Given the description of an element on the screen output the (x, y) to click on. 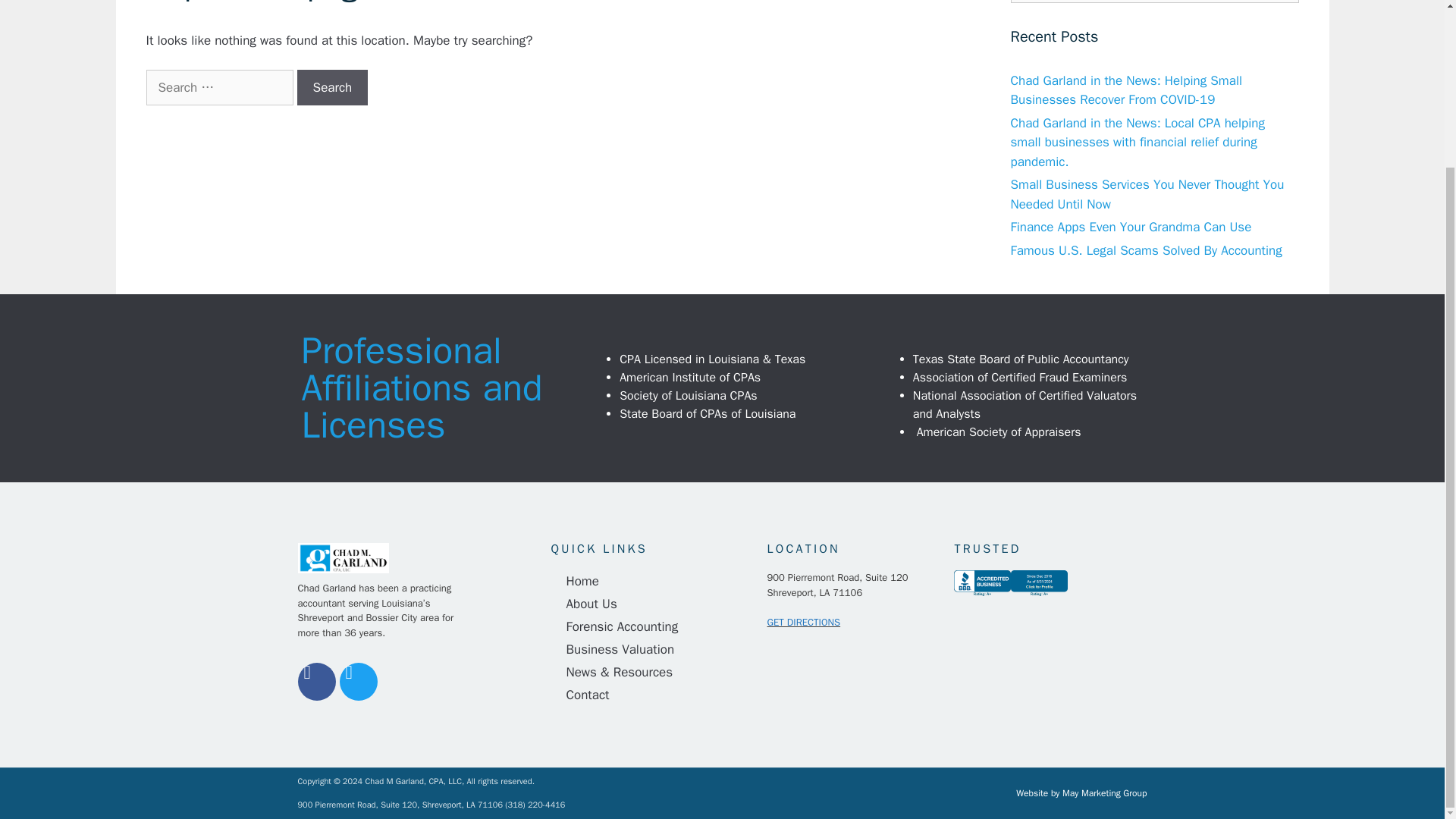
Search (332, 87)
Search for: (218, 87)
Contact (650, 694)
Forensic Accounting (650, 626)
About Us (650, 603)
Search (332, 87)
Home (650, 581)
